Given the description of an element on the screen output the (x, y) to click on. 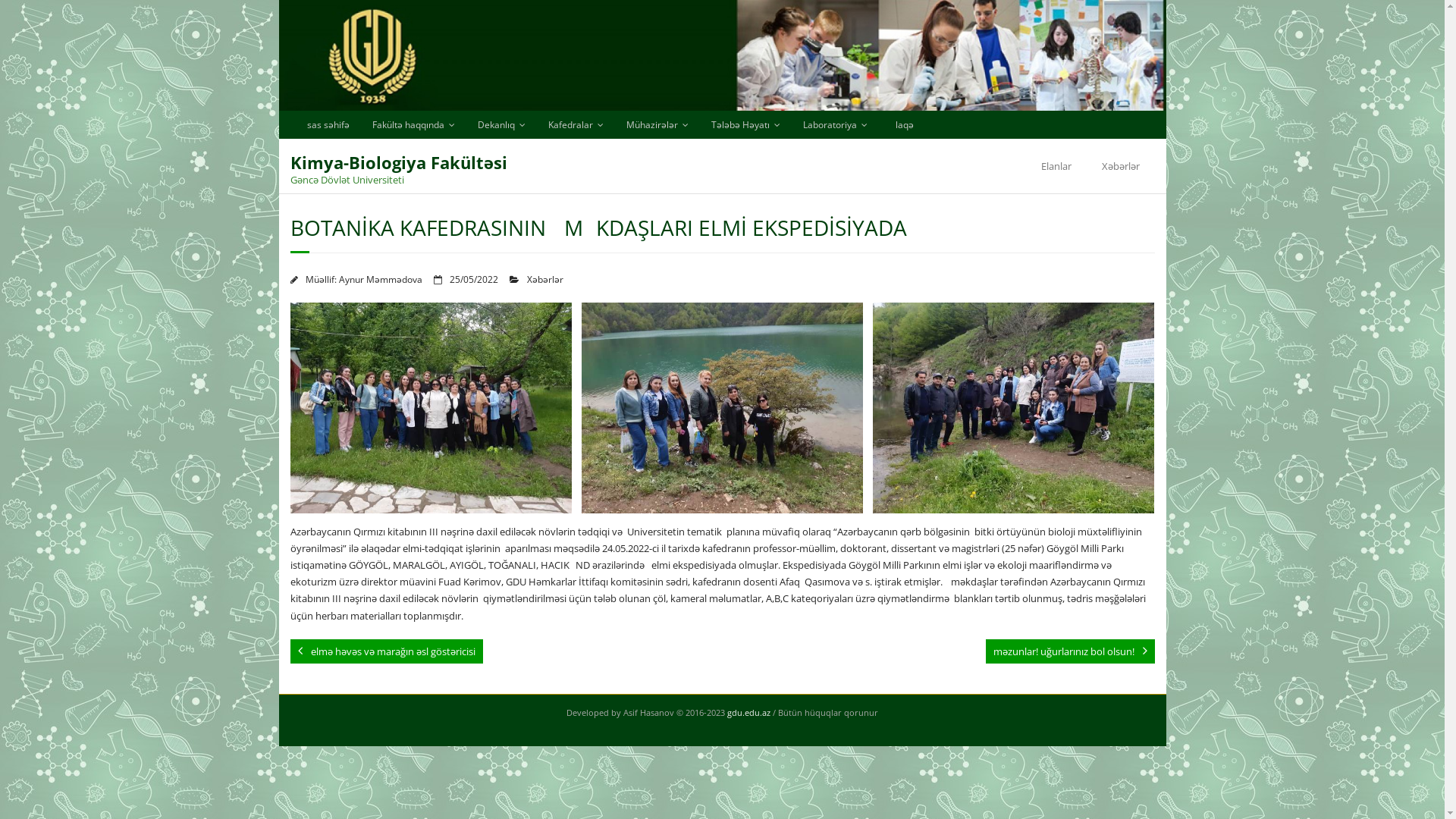
gdu.edu.az Element type: text (747, 712)
Laboratoriya Element type: text (834, 124)
25/05/2022 Element type: text (472, 279)
Elanlar Element type: text (1055, 165)
Kafedralar Element type: text (575, 124)
